Given the description of an element on the screen output the (x, y) to click on. 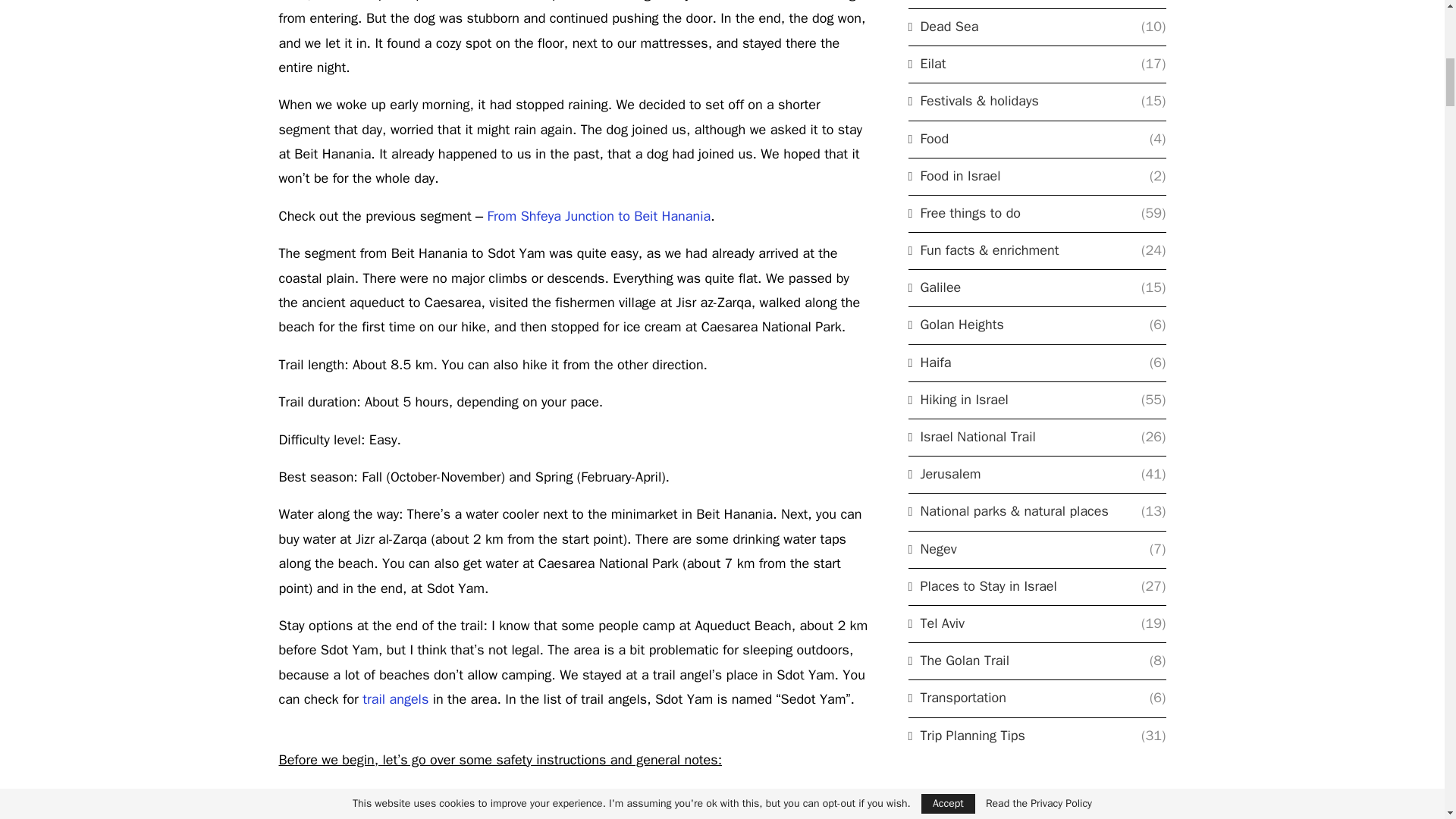
trail angels (395, 699)
From Shfeya Junction to Beit Hanania (598, 216)
